Given the description of an element on the screen output the (x, y) to click on. 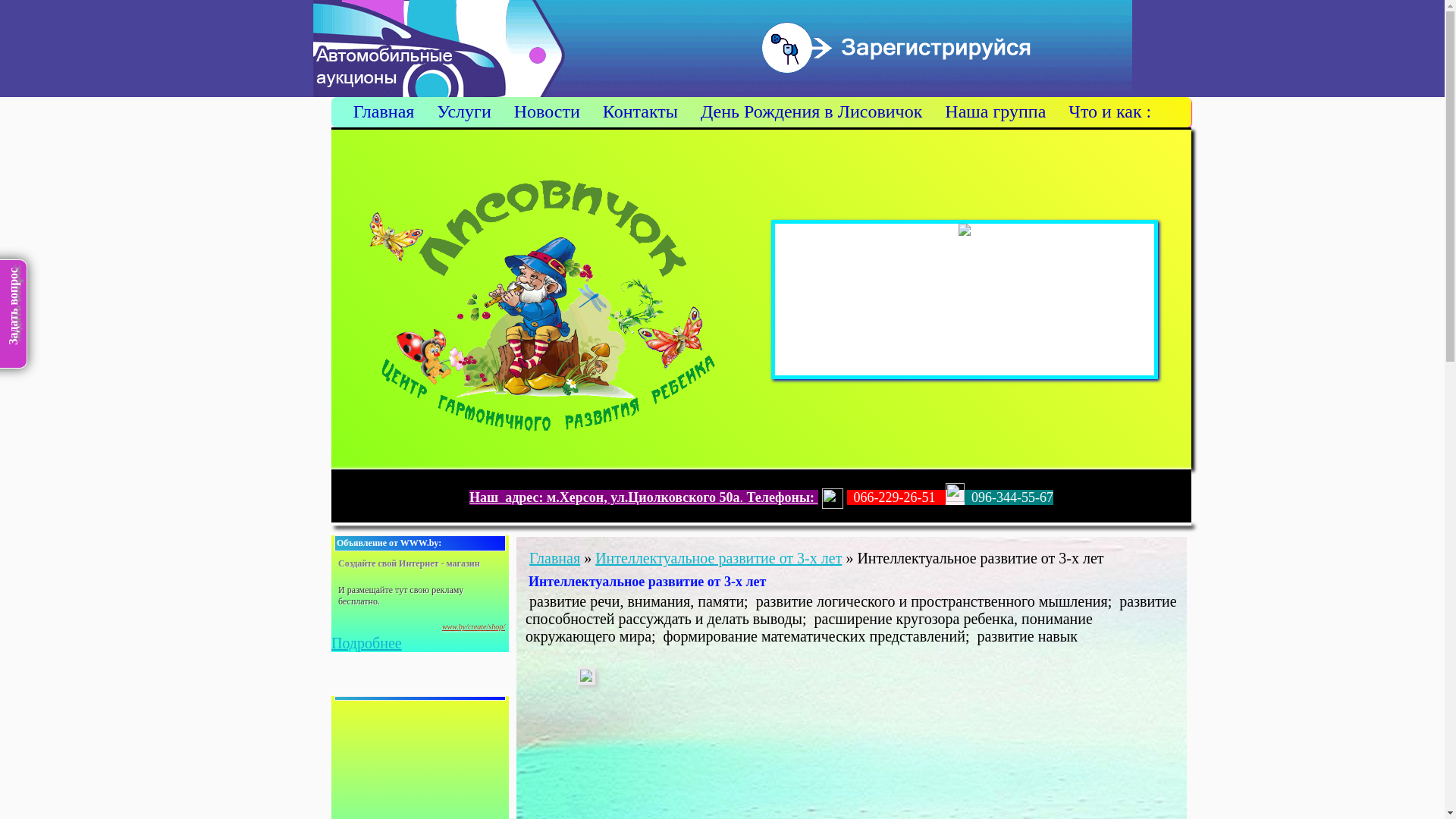
www.by/create/shop/ Element type: text (473, 626)
